Given the description of an element on the screen output the (x, y) to click on. 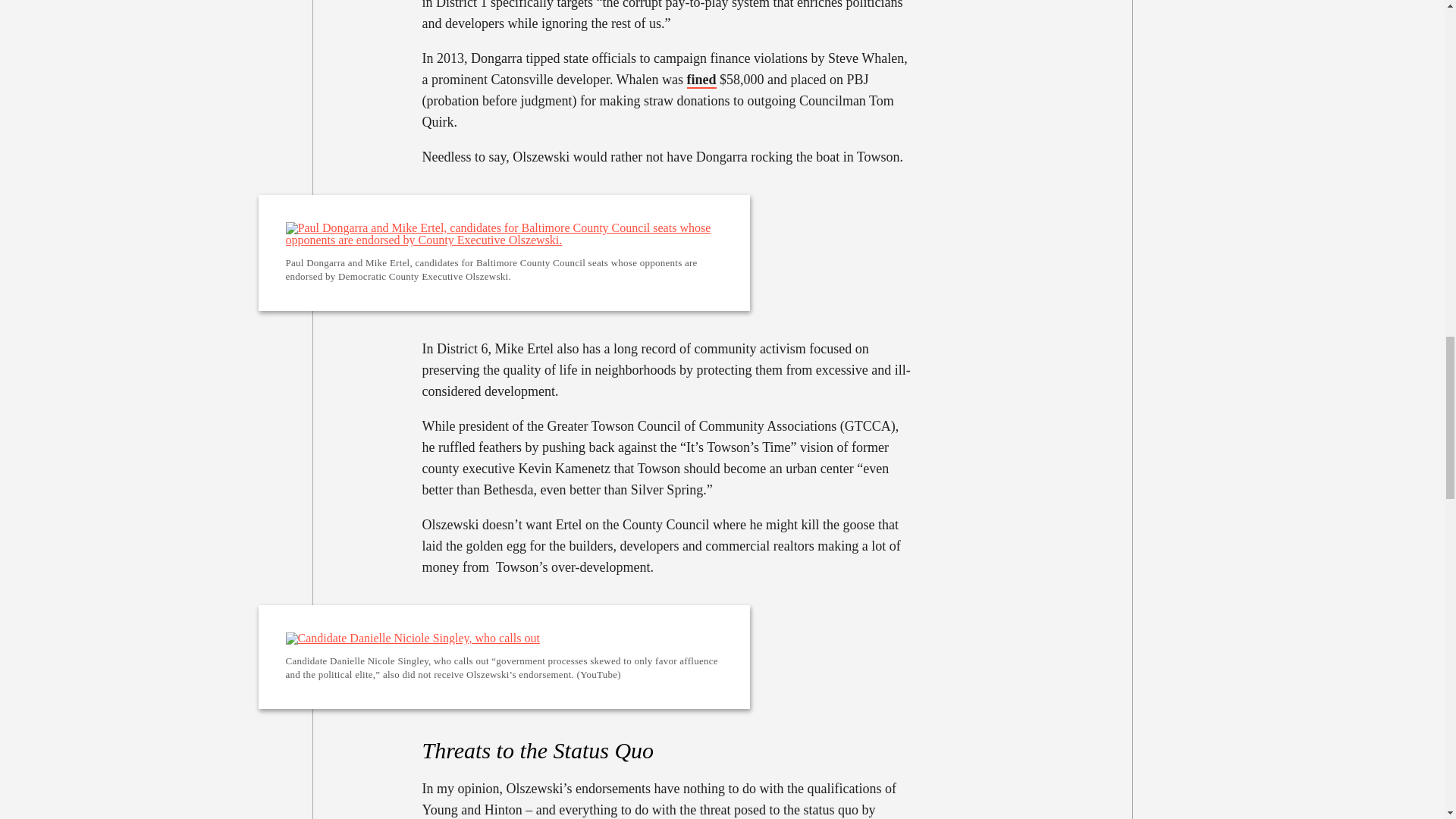
fined (701, 79)
